Given the description of an element on the screen output the (x, y) to click on. 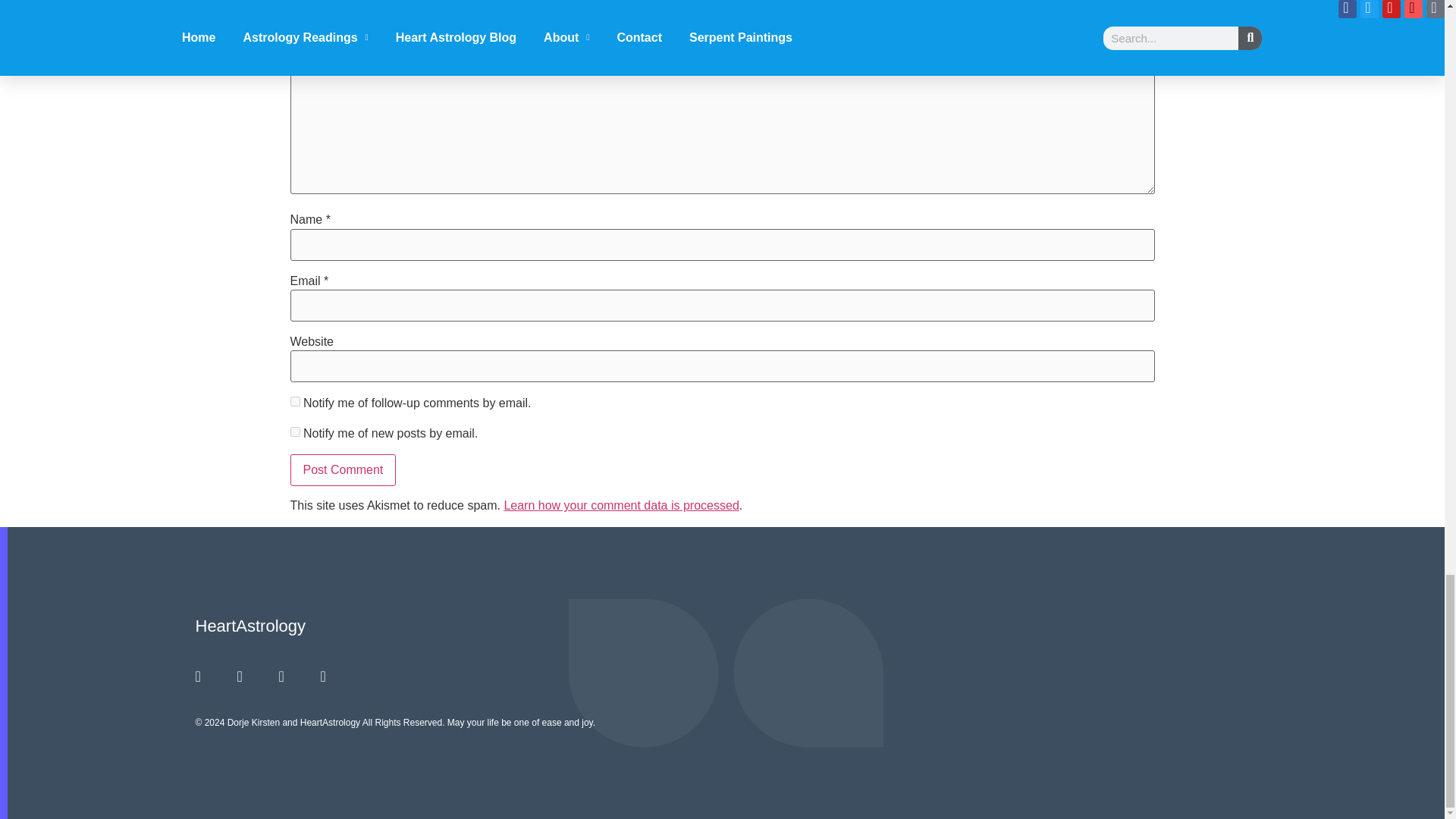
Post Comment (342, 470)
subscribe (294, 431)
subscribe (294, 401)
